Given the description of an element on the screen output the (x, y) to click on. 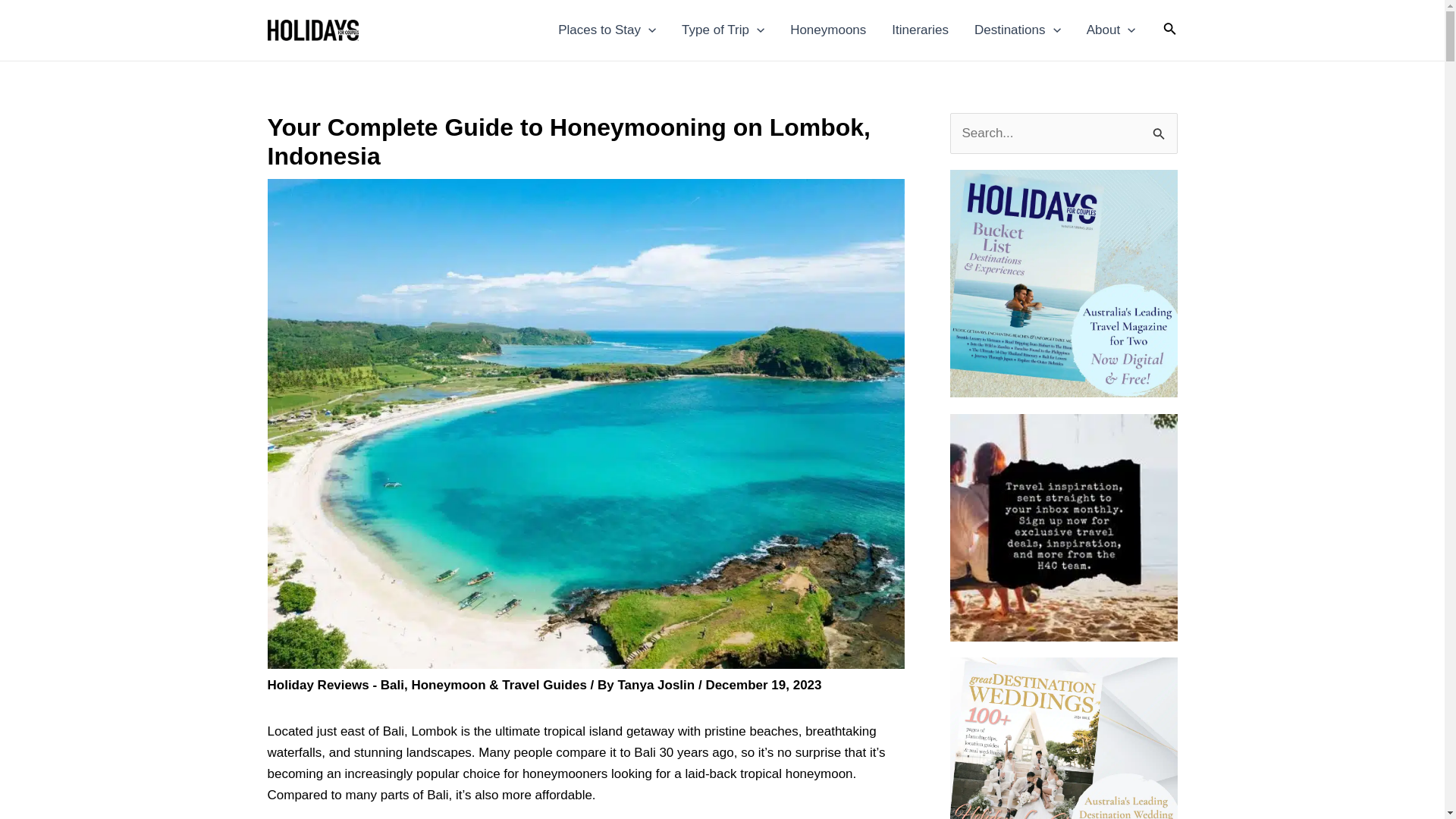
View all posts by Tanya Joslin (657, 685)
Search (1159, 129)
Search (1159, 129)
Places to Stay (606, 30)
